Given the description of an element on the screen output the (x, y) to click on. 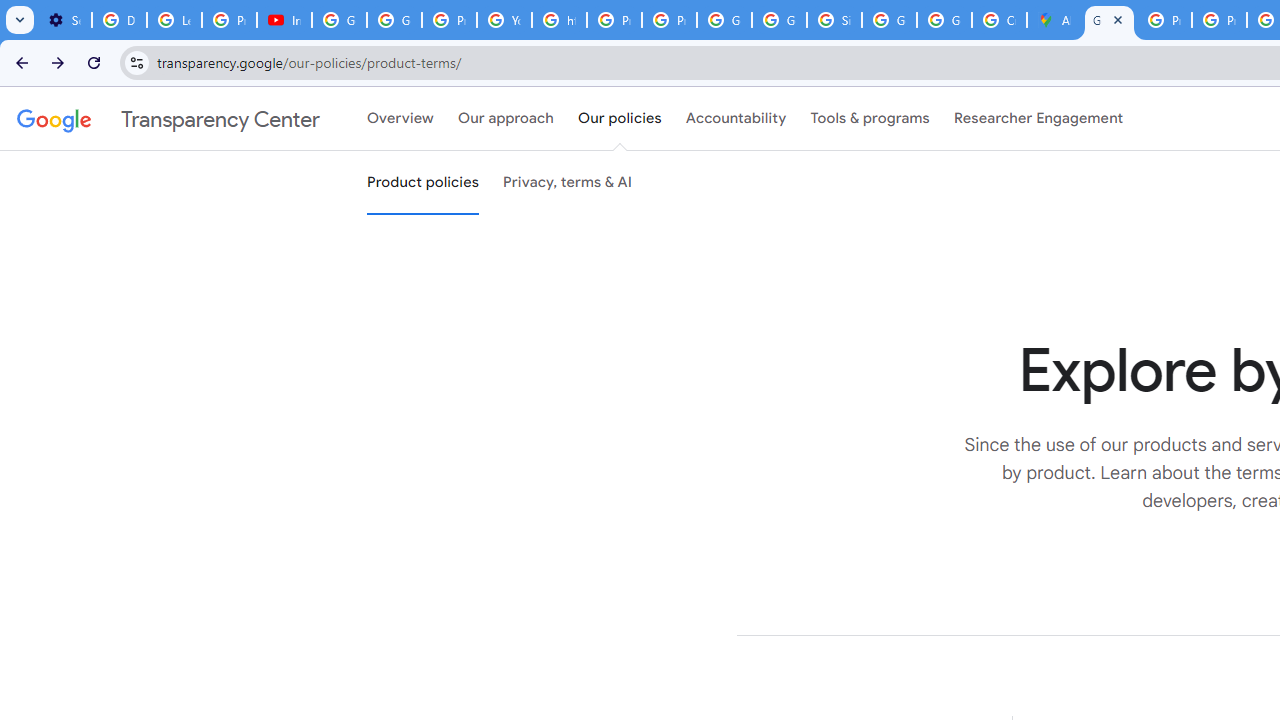
Google Account Help (339, 20)
Privacy Help Center - Policies Help (1218, 20)
Introduction | Google Privacy Policy - YouTube (284, 20)
Sign in - Google Accounts (833, 20)
Researcher Engagement (1038, 119)
Delete photos & videos - Computer - Google Photos Help (119, 20)
Settings - Performance (64, 20)
